Given the description of an element on the screen output the (x, y) to click on. 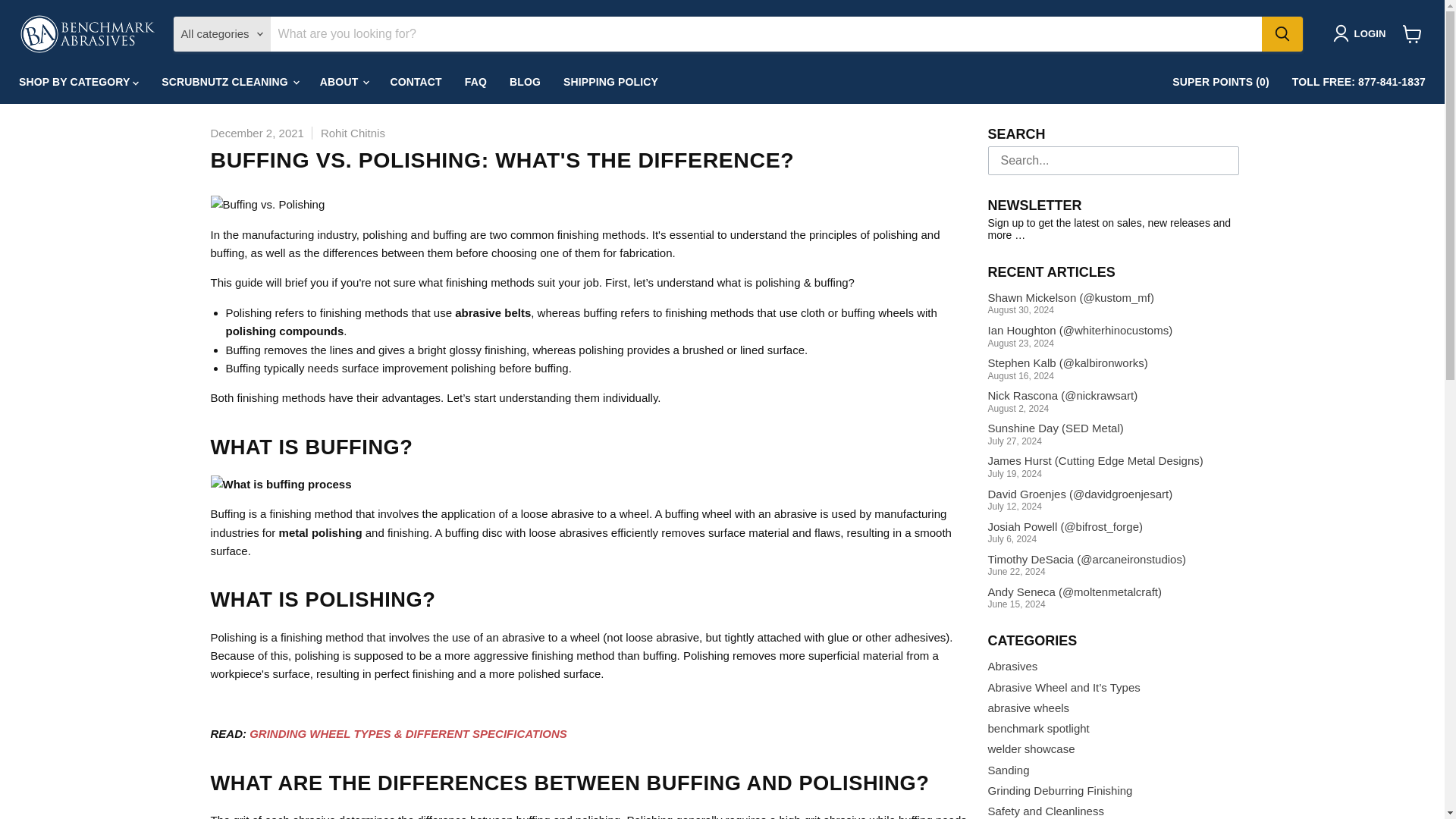
LOGIN (1362, 33)
Grinding Deburring Finishing (1059, 789)
View cart (1411, 33)
Sanding (1008, 769)
Abrasives (1011, 666)
Safety and Cleanliness (1045, 810)
